Given the description of an element on the screen output the (x, y) to click on. 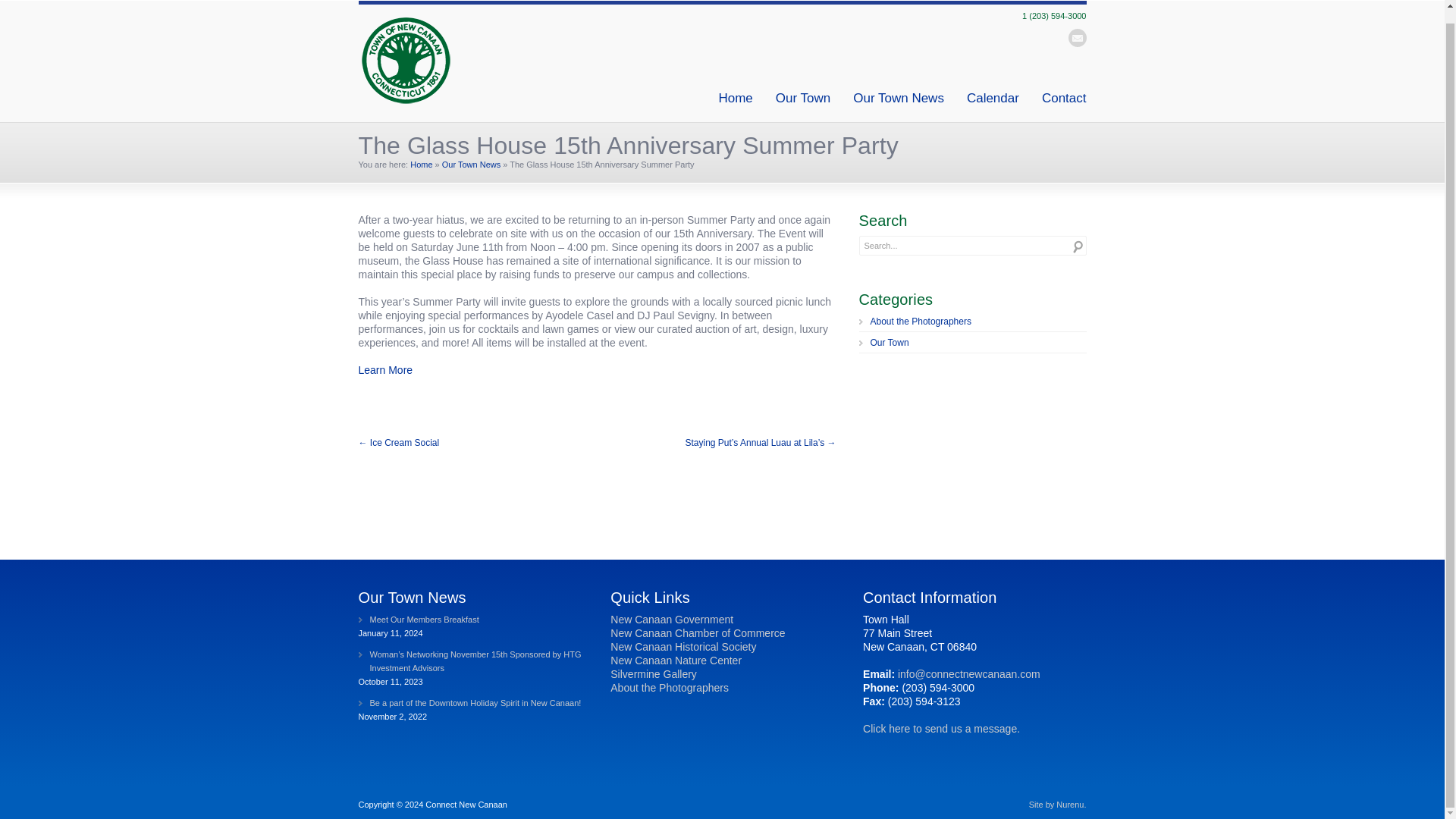
Learn More (385, 369)
Our Town News (471, 163)
Be a part of the Downtown Holiday Spirit in New Canaan! (469, 703)
Site by Nurenu. (1057, 804)
New Canaan Historical Society (682, 646)
Silvermine Gallery (653, 674)
Our Town (972, 343)
Our Town News (898, 97)
Contact (1063, 97)
New Canaan Government (671, 619)
